Given the description of an element on the screen output the (x, y) to click on. 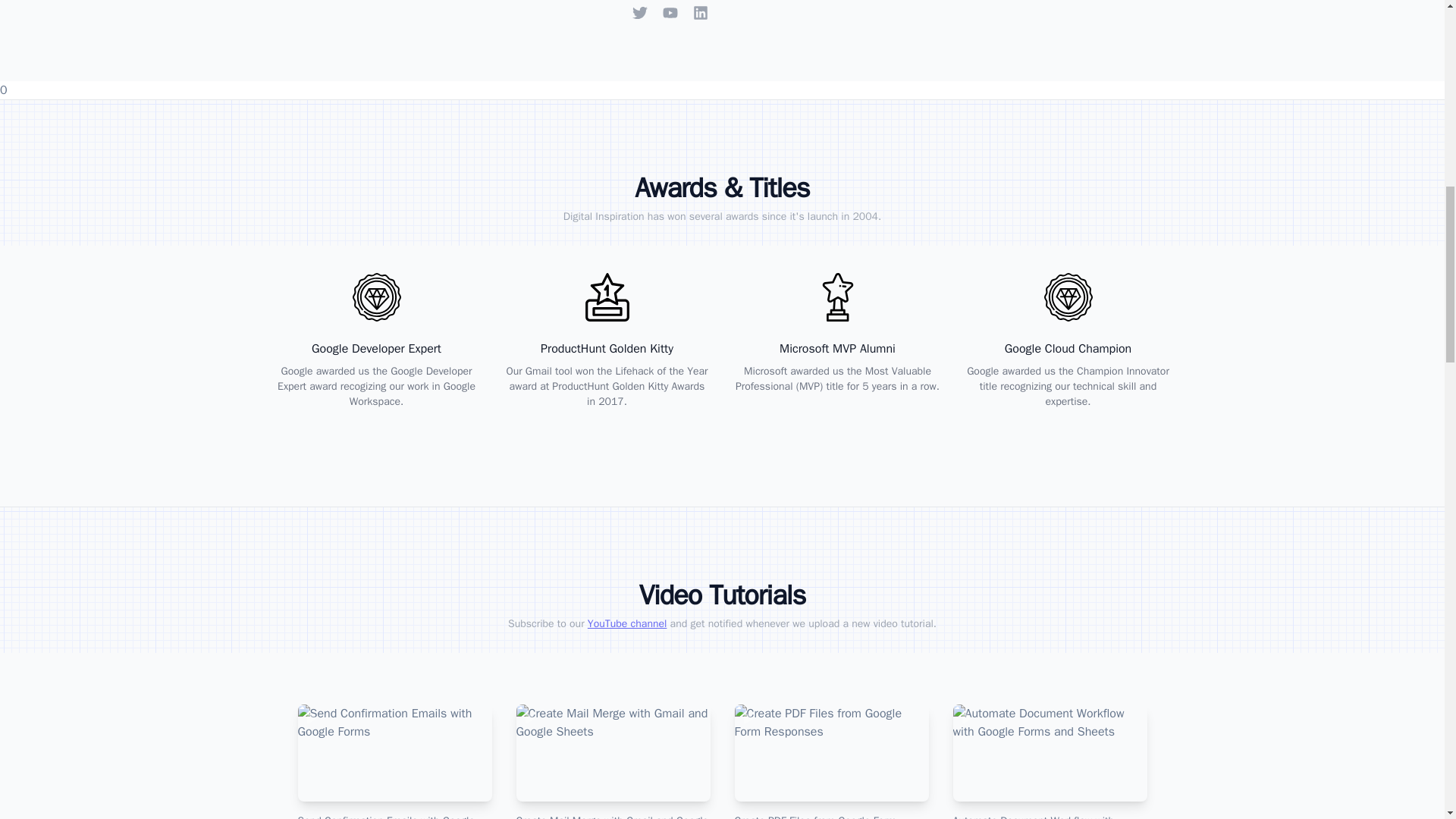
Create PDF Files from Google Form Responses (830, 761)
Automate Document Workflow with Google Forms and Sheets (1049, 761)
LinkedIn (700, 12)
YouTube channel (627, 623)
YouTube (670, 12)
Send Confirmation Emails with Google Forms (394, 761)
Twitter (639, 12)
Create Mail Merge with Gmail and Google Sheets (612, 761)
Automate Document Workflow with Google Forms and Sheets (1049, 761)
Create PDF Files from Google Form Responses (830, 761)
